Given the description of an element on the screen output the (x, y) to click on. 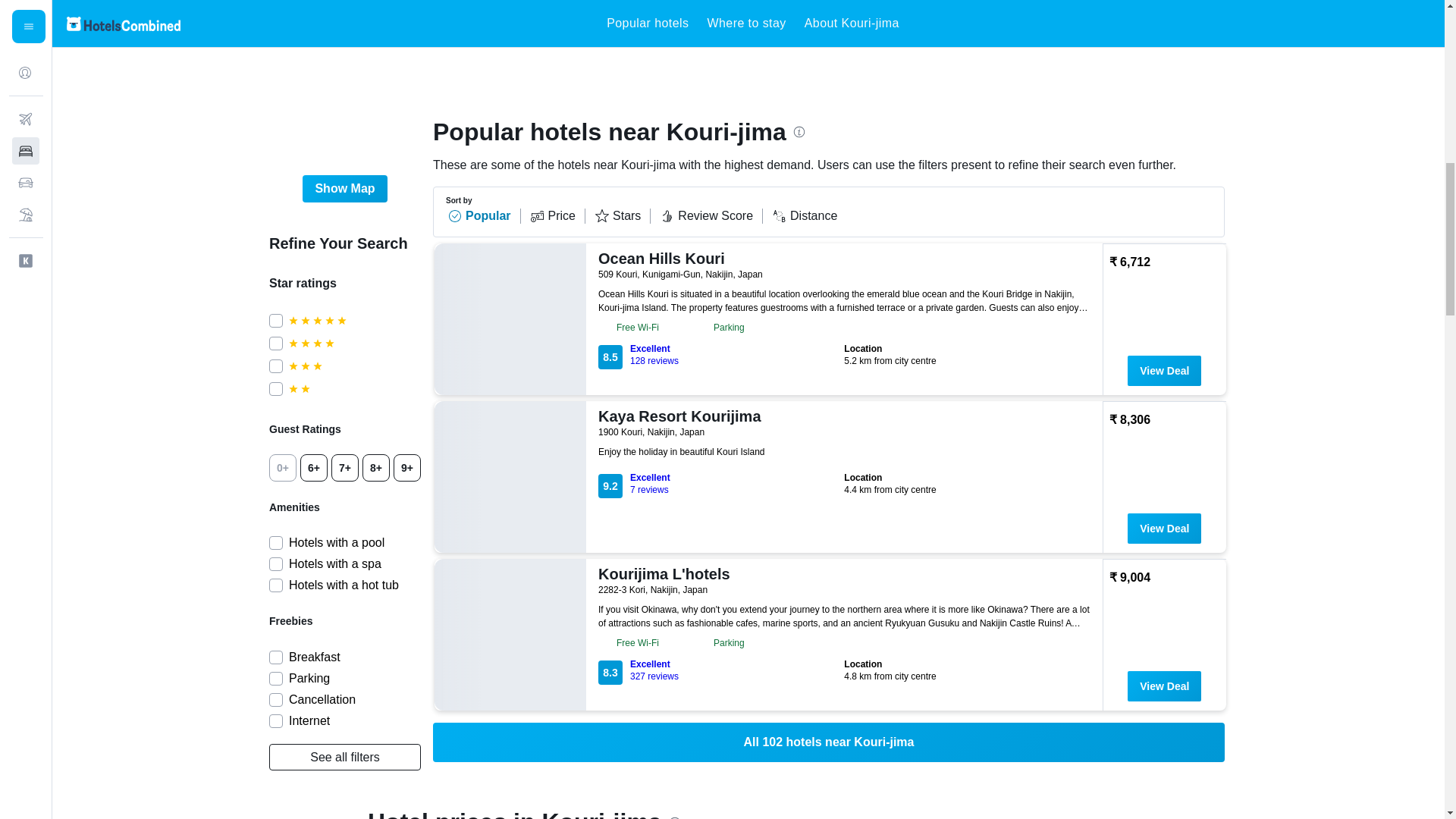
Price (557, 215)
Stars (622, 215)
2 stars (354, 388)
Distance (804, 215)
Ocean Hills Kouri (842, 258)
Home (373, 22)
Japan Hotels (430, 22)
See all filters (344, 757)
Nakijin Hotels (685, 22)
Show Map (344, 188)
